Given the description of an element on the screen output the (x, y) to click on. 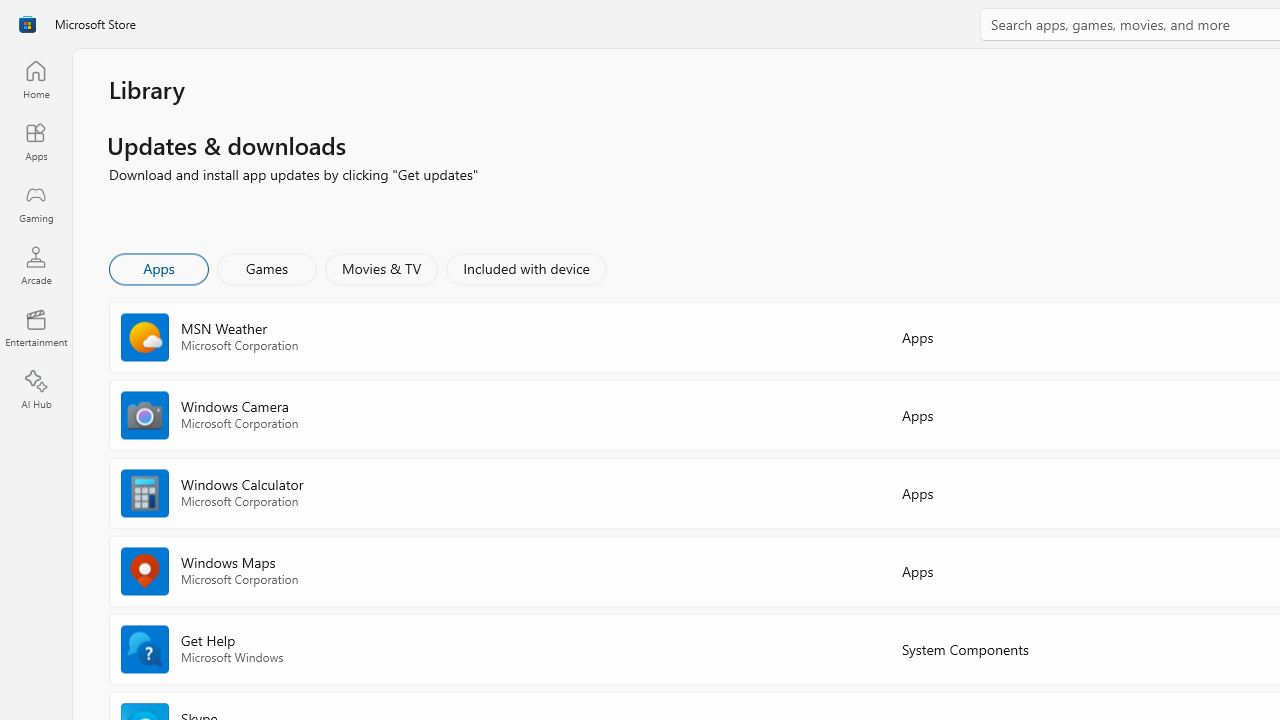
Included with device (525, 268)
Games (267, 268)
Movies & TV (381, 268)
